Given the description of an element on the screen output the (x, y) to click on. 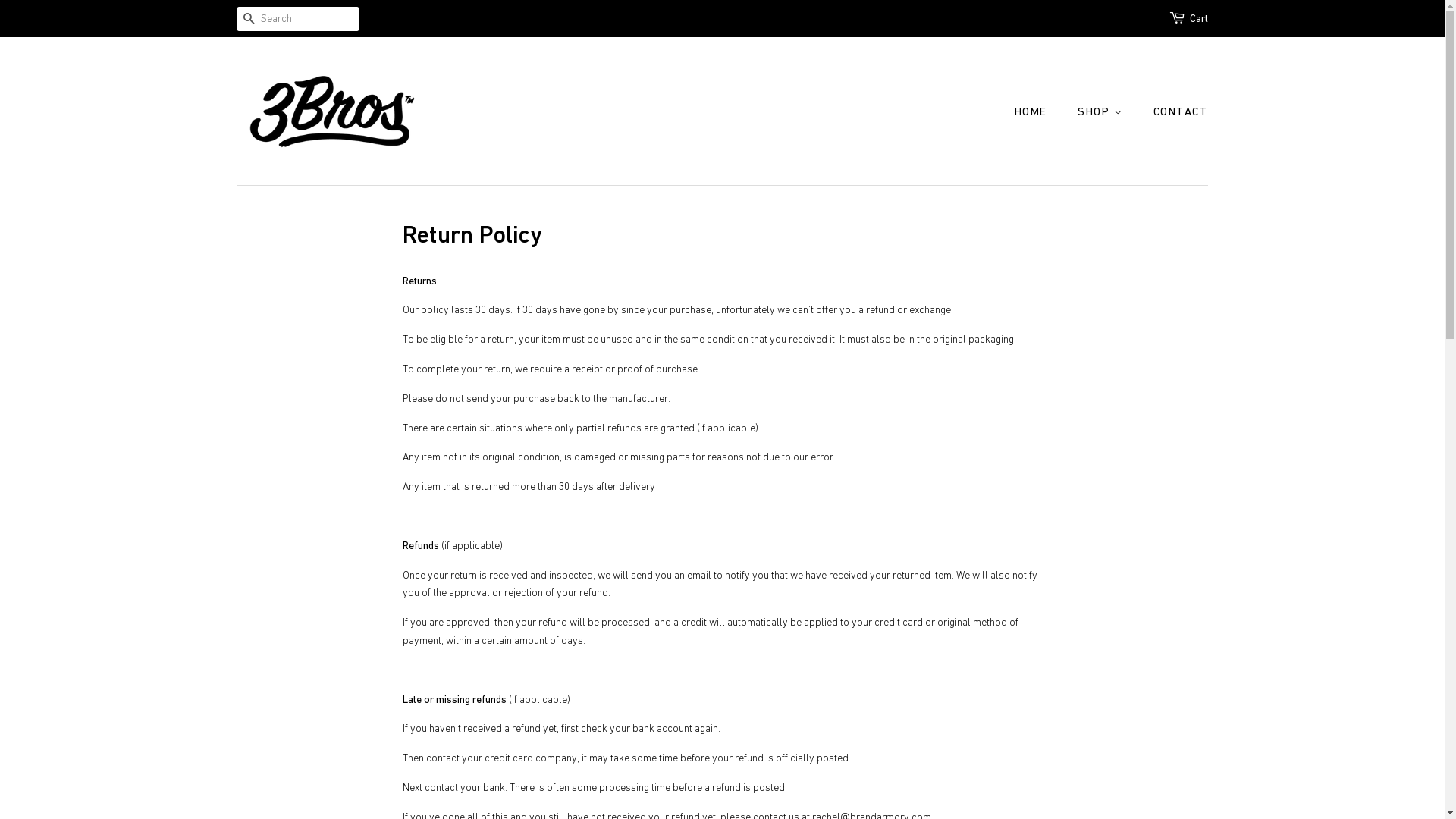
SEARCH Element type: text (248, 18)
Cart Element type: text (1198, 18)
HOME Element type: text (1038, 111)
SHOP Element type: text (1101, 111)
CONTACT Element type: text (1175, 111)
